Given the description of an element on the screen output the (x, y) to click on. 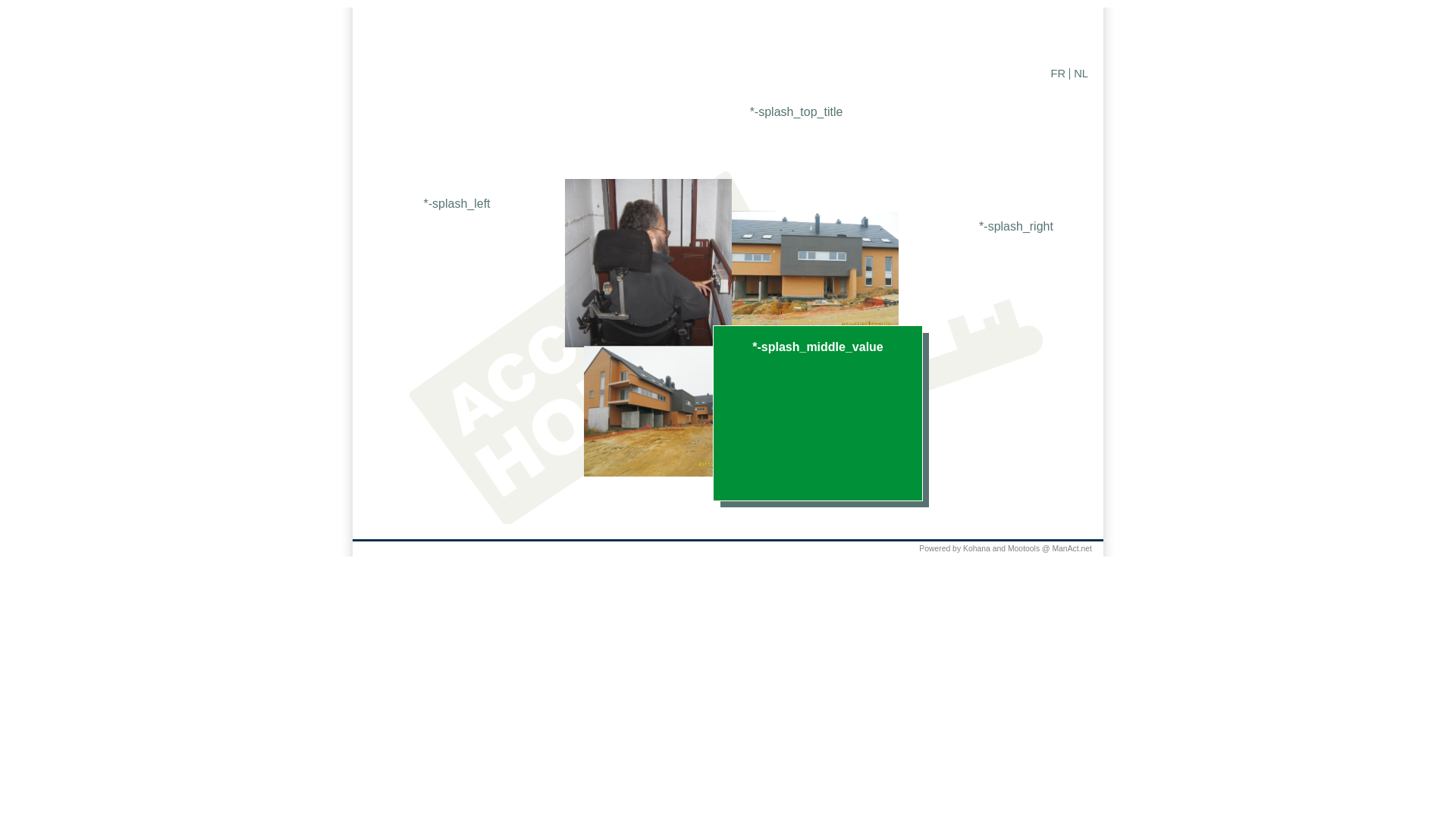
FR Element type: text (1058, 73)
ManAct.net Element type: text (1071, 548)
NL Element type: text (1080, 73)
Powered by Element type: text (939, 548)
Mootools Element type: text (1023, 548)
Kohana Element type: text (976, 548)
